Given the description of an element on the screen output the (x, y) to click on. 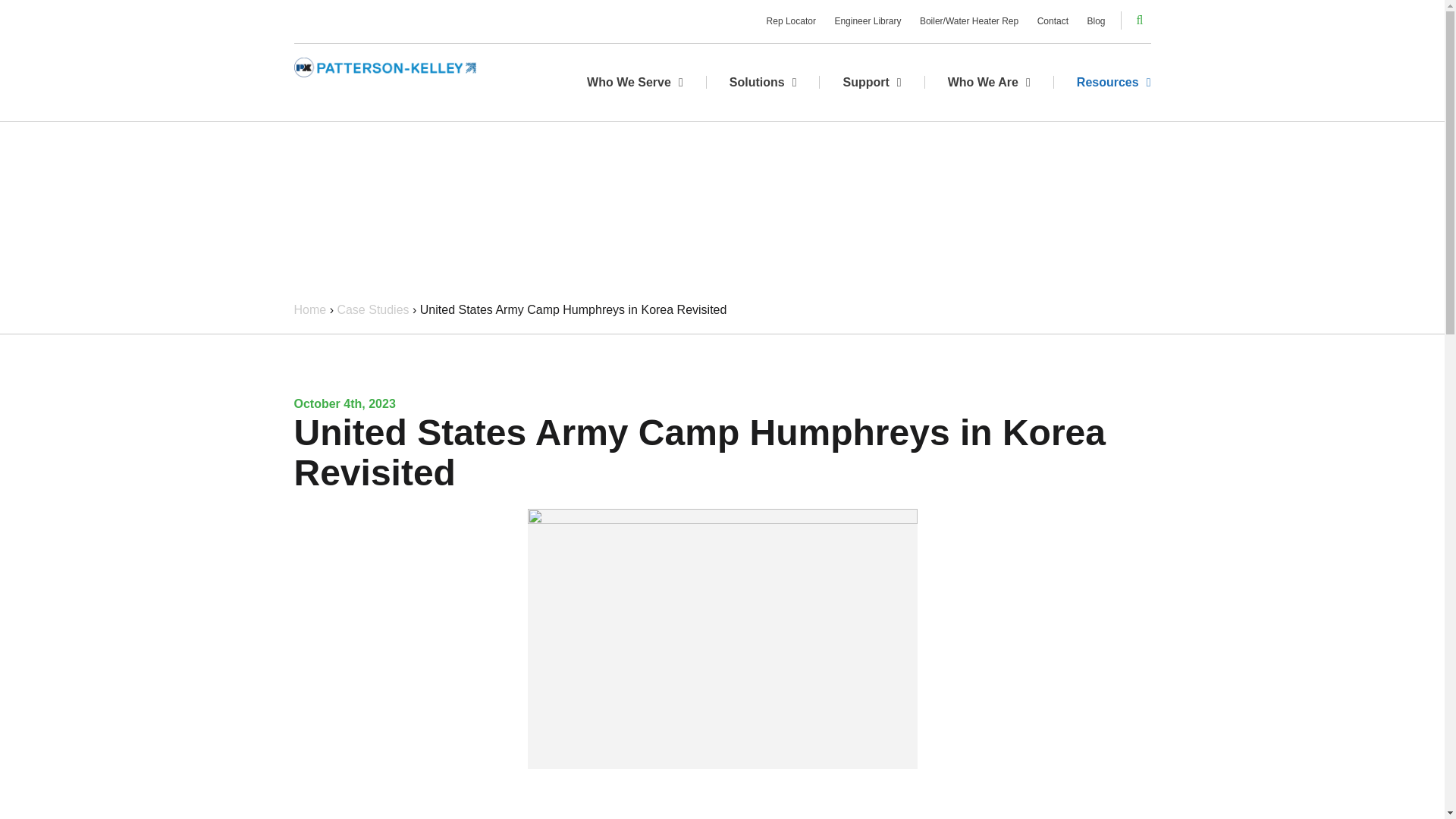
Solutions (763, 82)
Contact (1052, 21)
Engineer Library (867, 21)
Rep Locator (791, 21)
Who We Serve (635, 82)
